Given the description of an element on the screen output the (x, y) to click on. 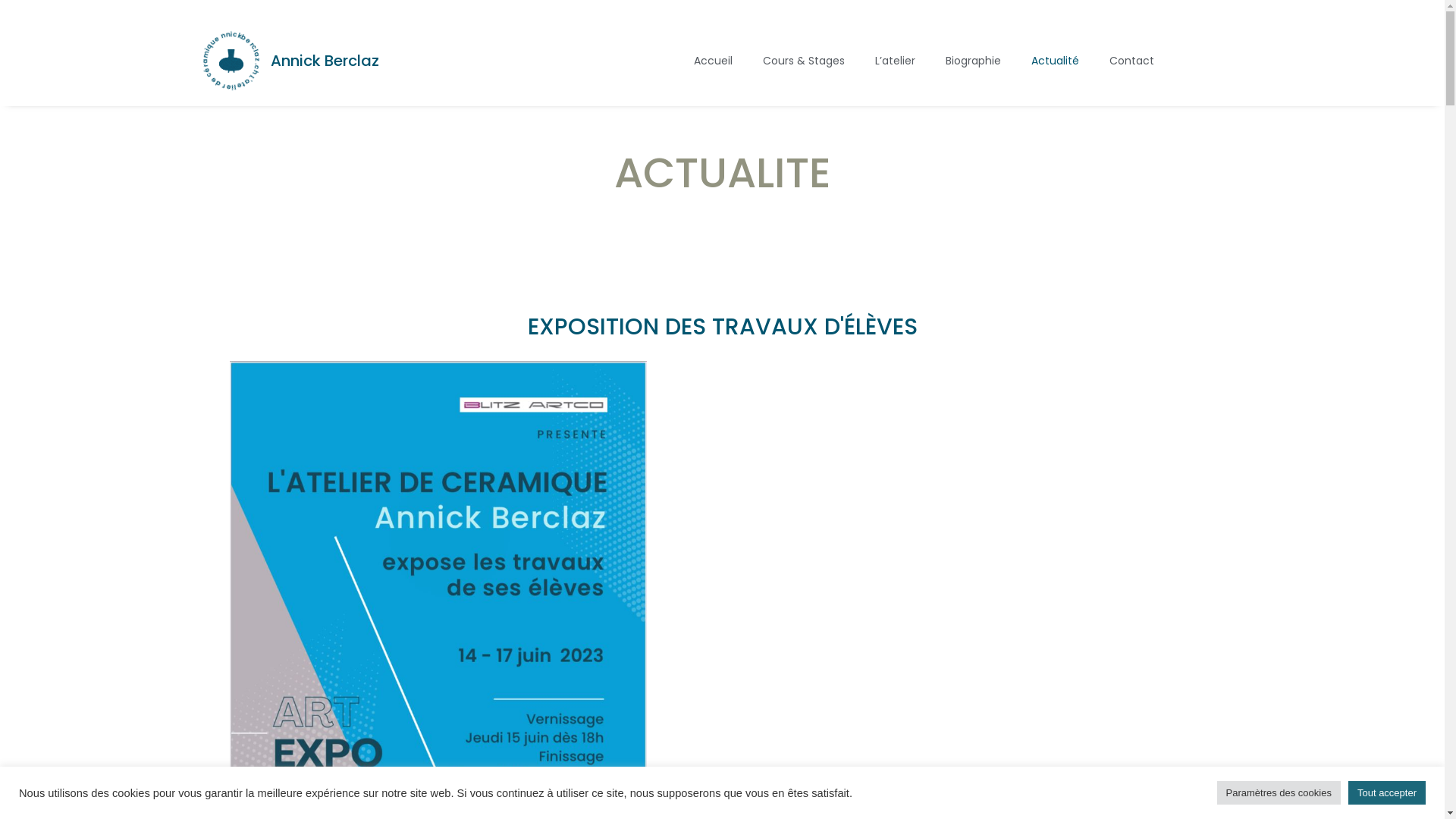
Accueil Element type: text (712, 60)
Annick Berclaz Element type: text (323, 60)
Tout accepter Element type: text (1386, 792)
Biographie Element type: text (973, 60)
Contact Element type: text (1131, 60)
Cours & Stages Element type: text (803, 60)
